Given the description of an element on the screen output the (x, y) to click on. 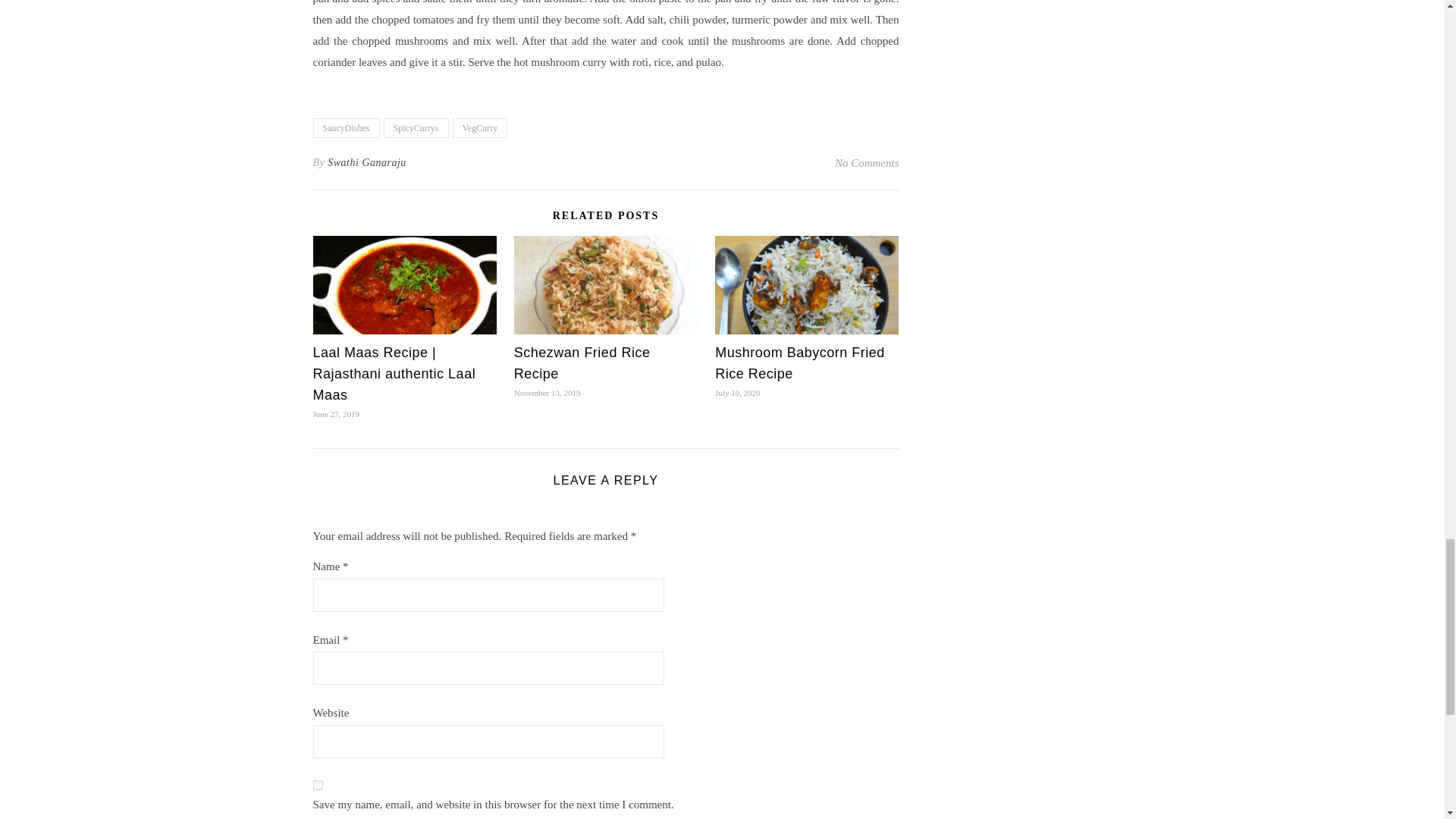
SpicyCurrys (416, 127)
Mushroom Babycorn Fried Rice Recipe (799, 362)
No Comments (866, 162)
VegCurry (478, 127)
SaucyDishes (345, 127)
Posts by Swathi Ganaraju (366, 162)
yes (317, 785)
Schezwan Fried Rice Recipe (581, 362)
Swathi Ganaraju (366, 162)
